Given the description of an element on the screen output the (x, y) to click on. 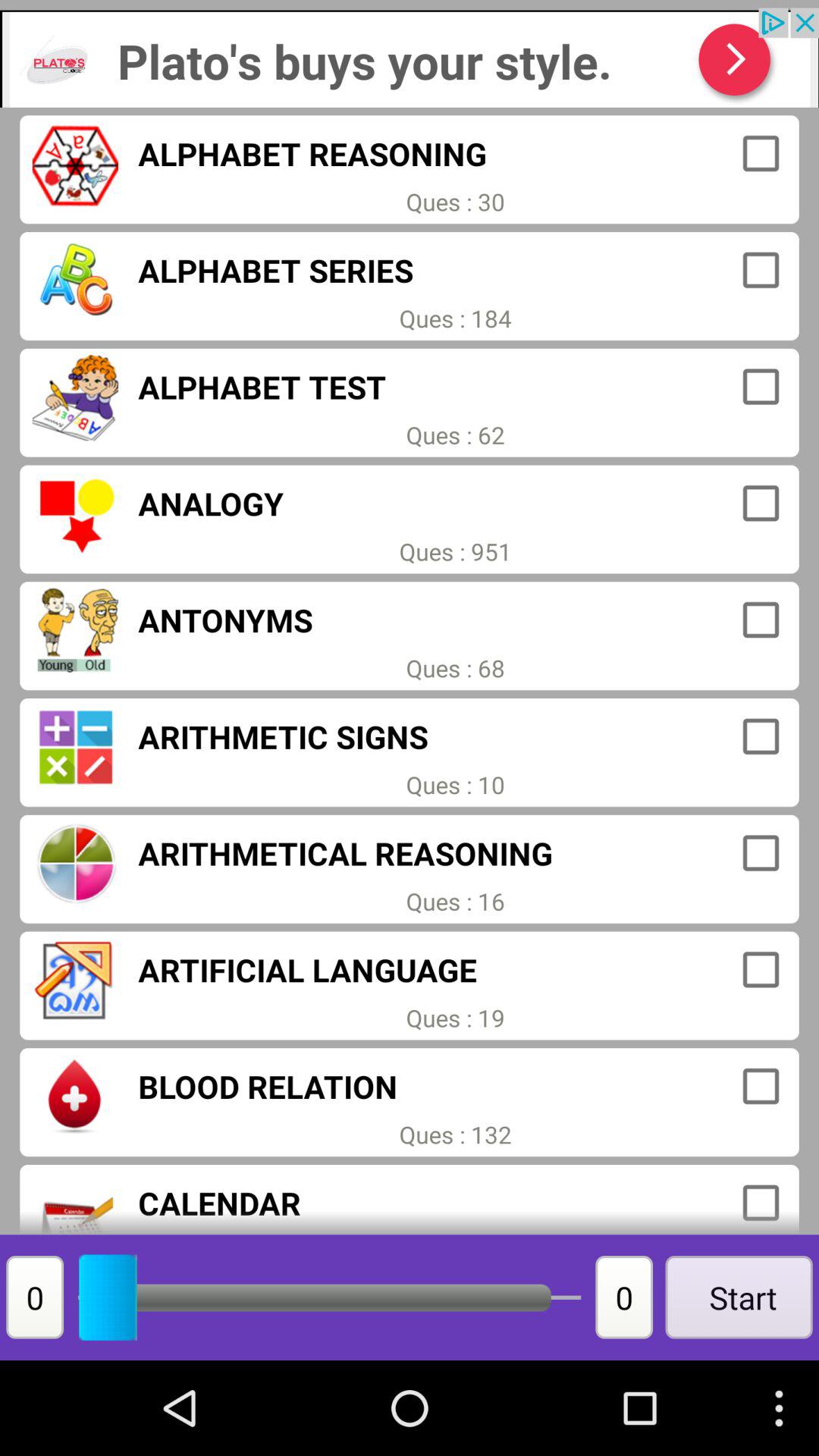
click the add (409, 57)
